Given the description of an element on the screen output the (x, y) to click on. 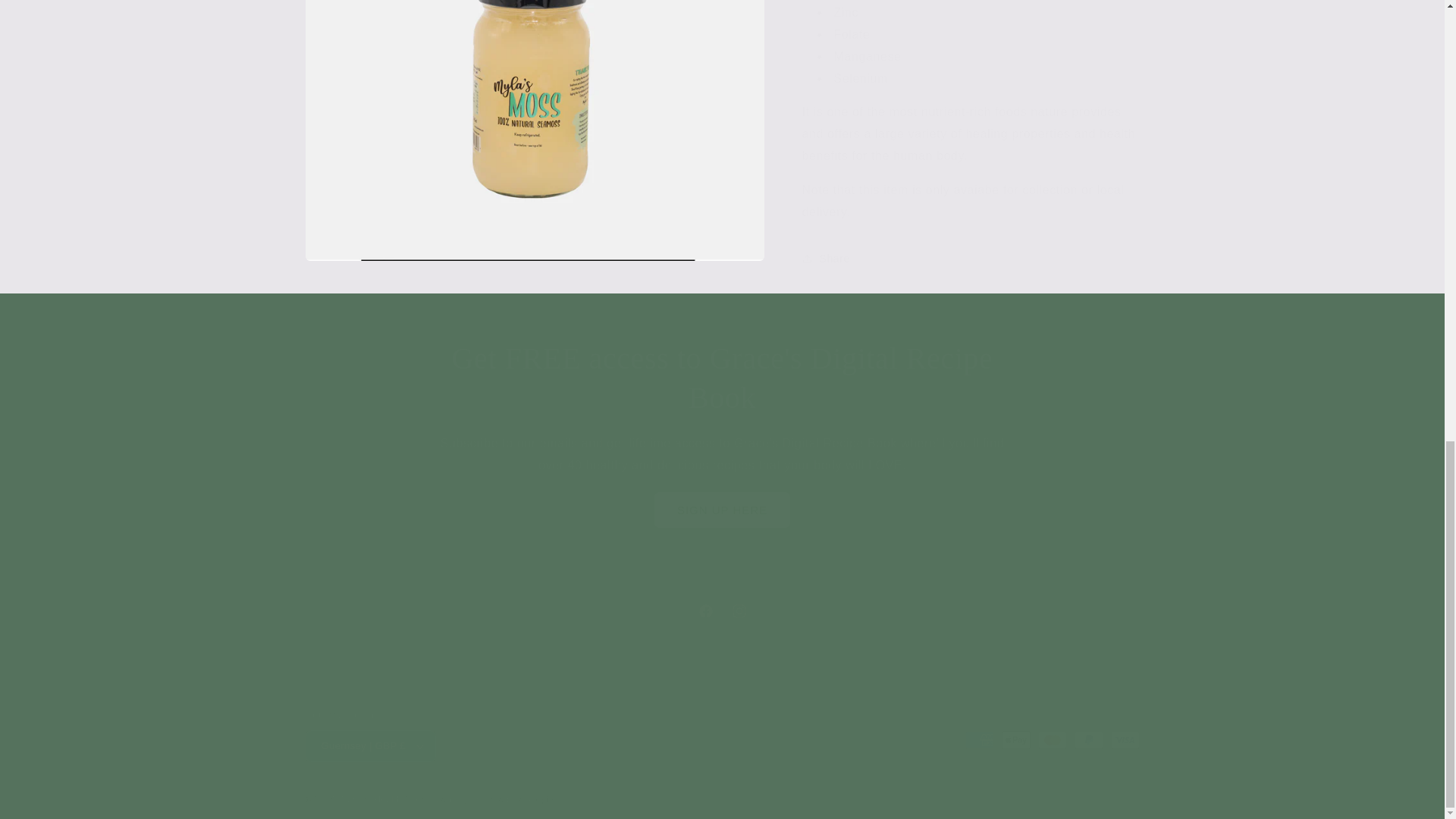
SIGN UP HERE (721, 611)
Get FREE access to Grace's Digital Recipe Book (722, 509)
